Given the description of an element on the screen output the (x, y) to click on. 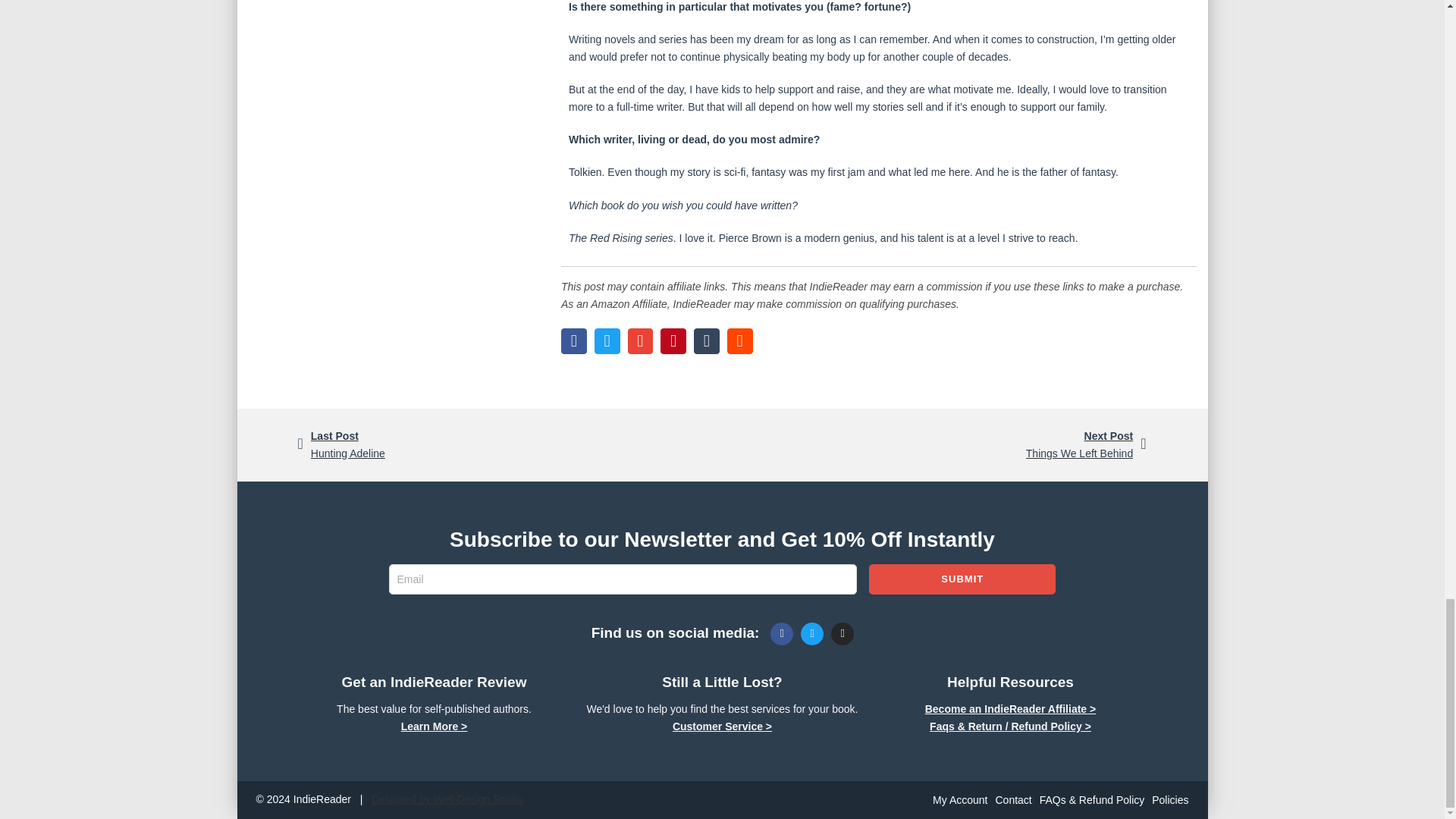
Submit (962, 579)
Submit (509, 444)
